Given the description of an element on the screen output the (x, y) to click on. 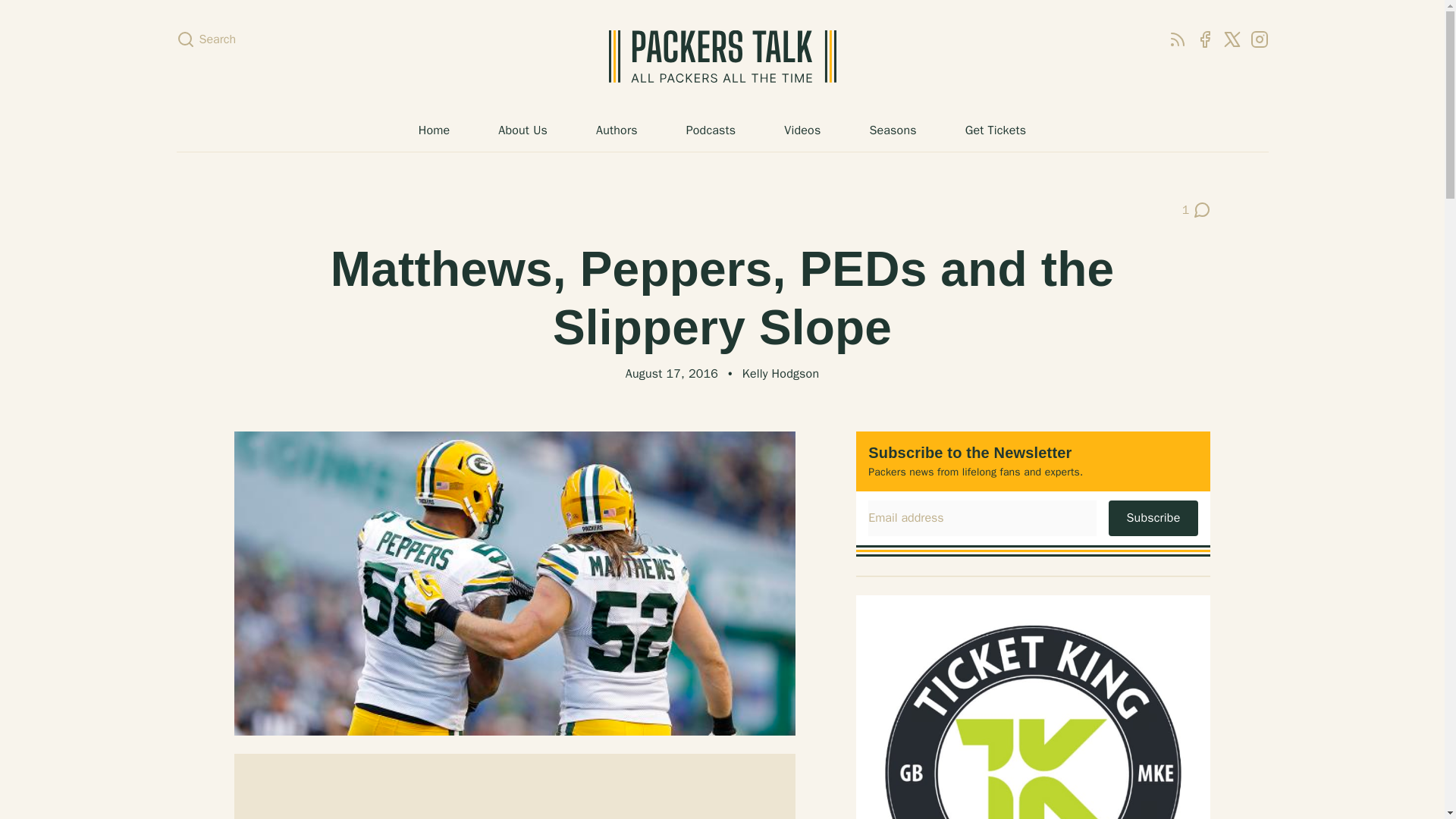
Authors (616, 129)
Seasons (892, 129)
PackersTalk on Facebook (1203, 39)
Comments (1196, 209)
Subscribe (1153, 517)
PackersTalk RSS Feed (1176, 39)
About Us (522, 129)
Kelly Hodgson (780, 373)
RSS (1176, 39)
Instagram (1258, 39)
PackersTalk.com Blog Posts and Podcasts (722, 56)
Videos (802, 129)
Get Tickets (995, 129)
Subscribe (1153, 517)
PackersTalk on Instagram (1258, 39)
